Given the description of an element on the screen output the (x, y) to click on. 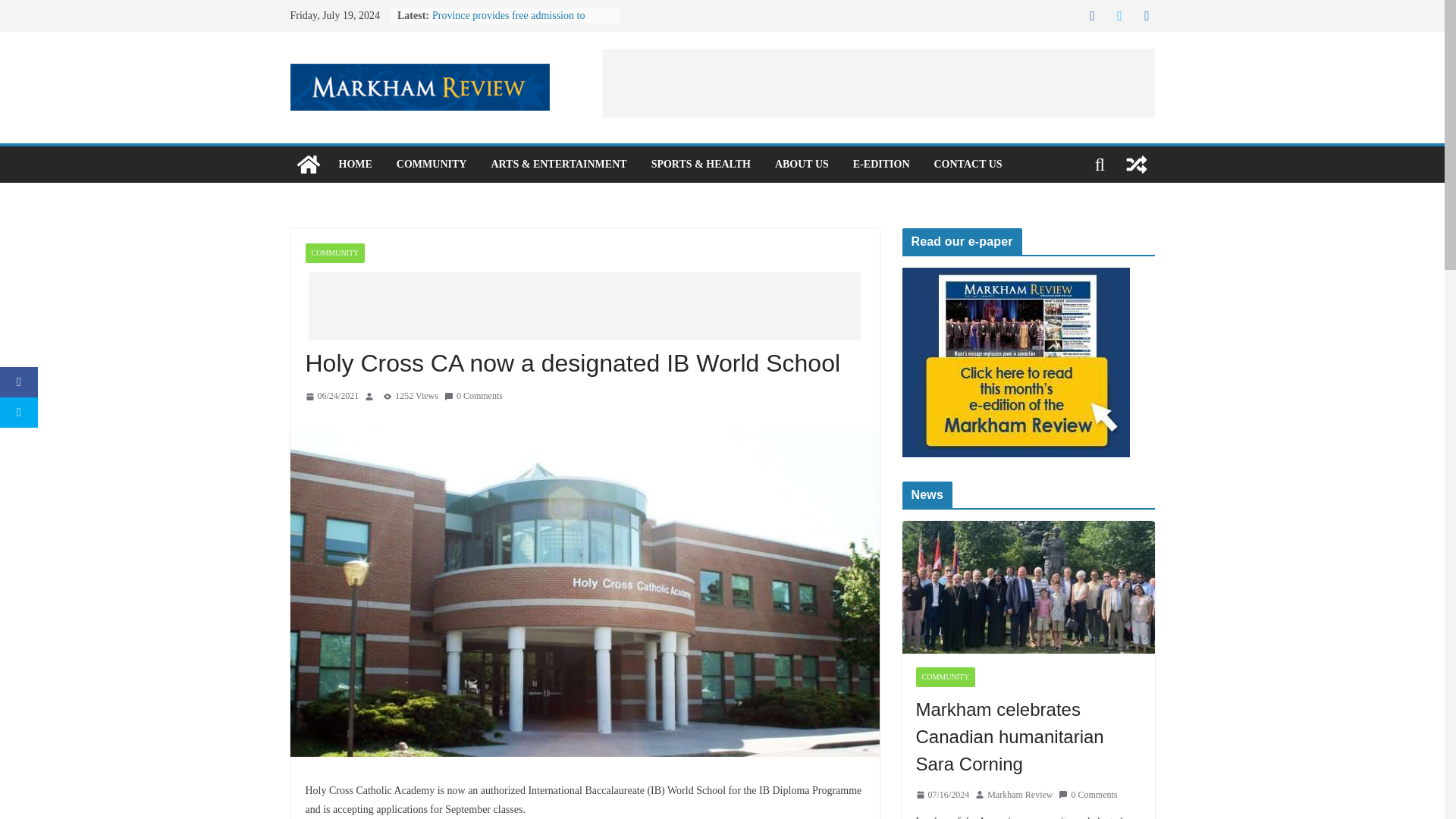
ABOUT US (801, 164)
Markham celebrates Canadian humanitarian Sara Corning (1028, 586)
Advertisement (584, 305)
View a random post (1136, 164)
Advertisement (878, 83)
HOME (354, 164)
Markham celebrates Canadian humanitarian Sara Corning (1028, 737)
COMMUNITY (334, 252)
Markham Review (307, 164)
0 Comments (473, 396)
9:50 am (331, 396)
COMMUNITY (431, 164)
Markham Review (1019, 795)
COMMUNITY (945, 677)
